Given the description of an element on the screen output the (x, y) to click on. 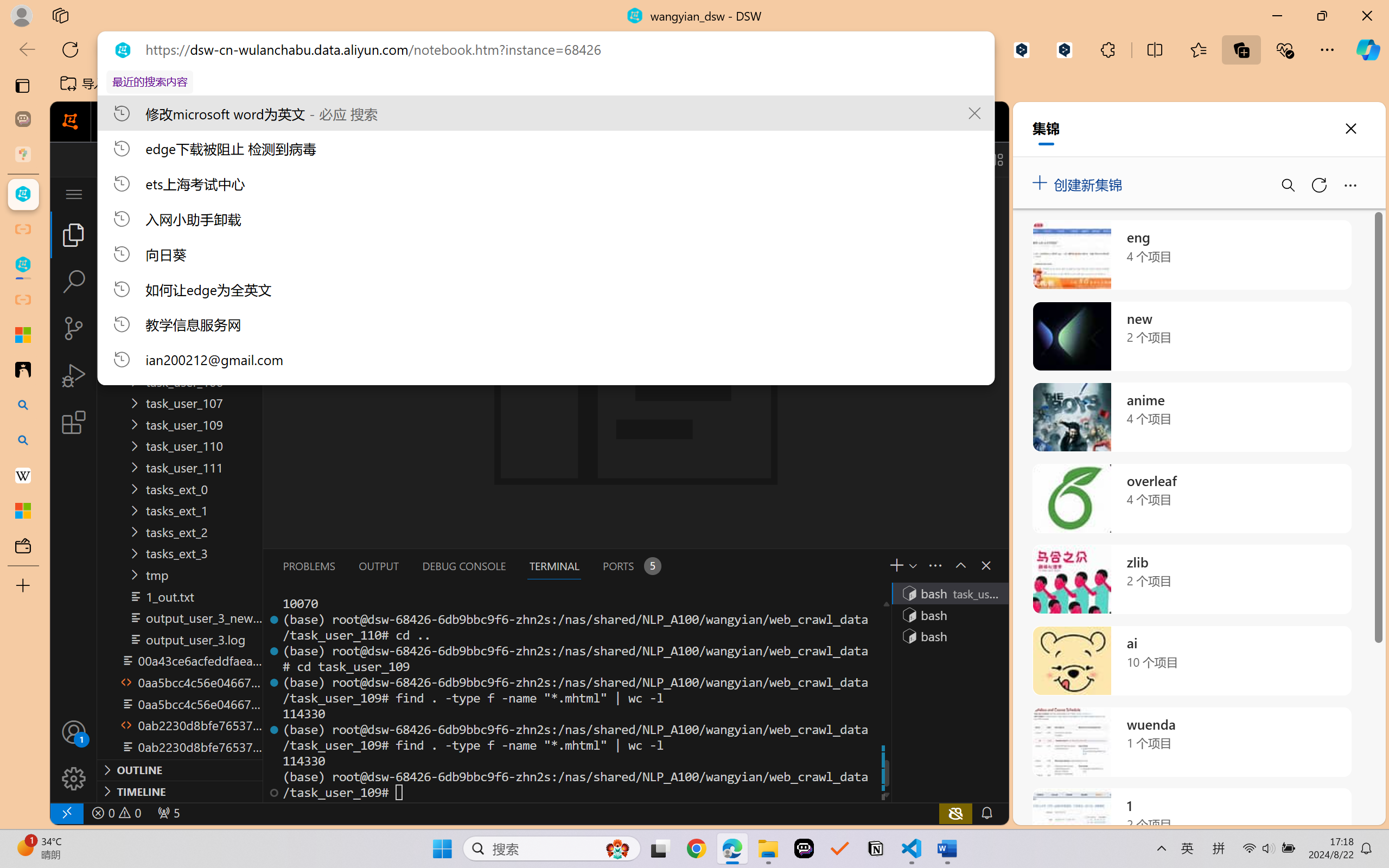
Explorer (Ctrl+Shift+E) (73, 234)
Go Back (Alt+LeftArrow) (329, 159)
icon (930, 119)
Maximize Panel Size (959, 565)
Go Forward (Alt+RightArrow) (354, 159)
Wikipedia, the free encyclopedia (236, 83)
Outline Section (179, 769)
